Given the description of an element on the screen output the (x, y) to click on. 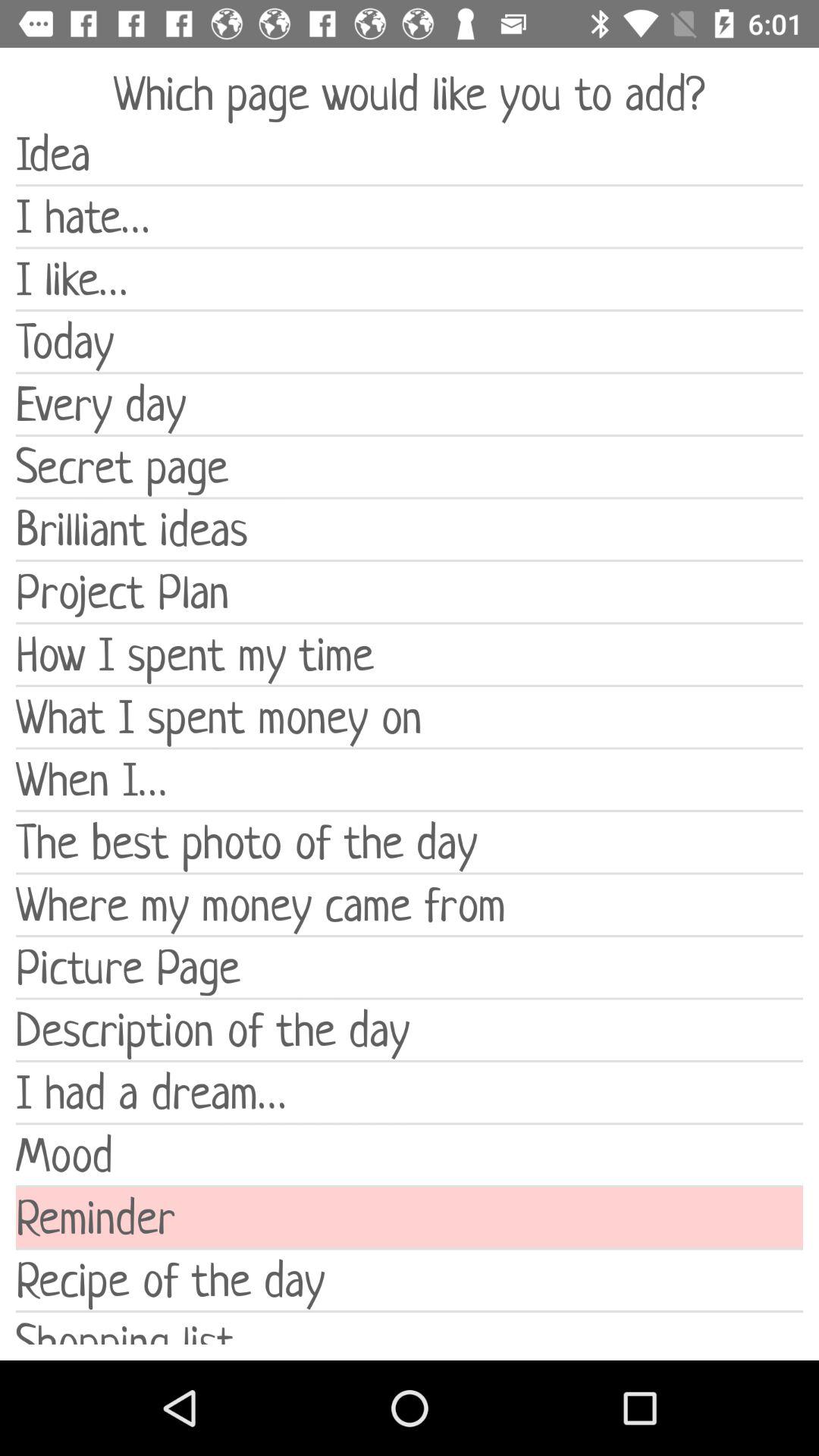
scroll until the today (409, 341)
